Given the description of an element on the screen output the (x, y) to click on. 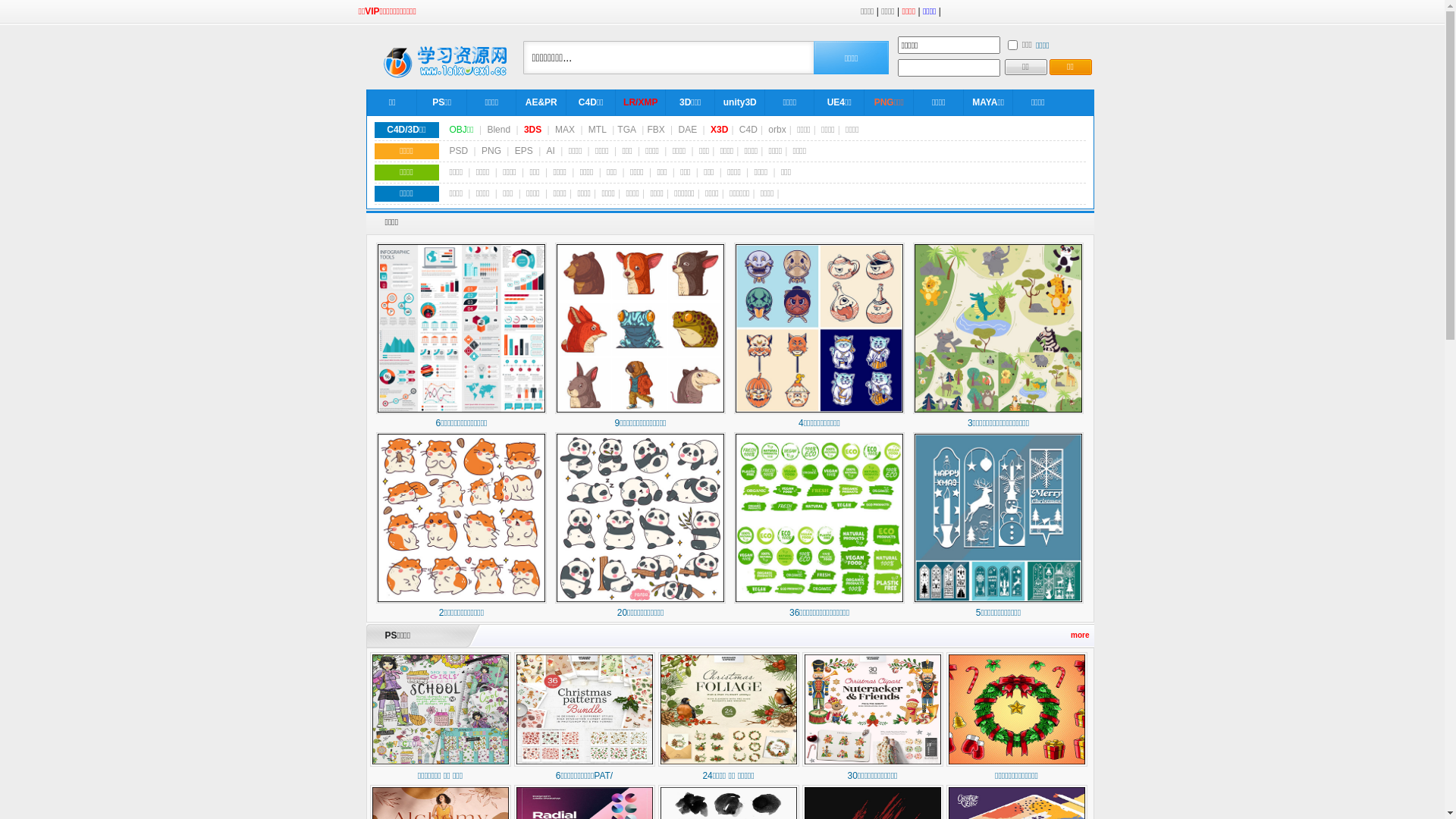
C4D Element type: text (748, 129)
AE&PR Element type: text (540, 102)
FBX Element type: text (655, 129)
orbx Element type: text (776, 129)
LR/XMP Element type: text (640, 102)
MTL Element type: text (597, 129)
PNG Element type: text (491, 150)
TGA Element type: text (626, 129)
PSD Element type: text (457, 150)
more Element type: text (1079, 634)
3DS Element type: text (532, 129)
MAX Element type: text (564, 129)
unity3D Element type: text (739, 102)
X3D Element type: text (719, 129)
AI Element type: text (550, 150)
Blend Element type: text (498, 129)
DAE Element type: text (687, 129)
EPS Element type: text (523, 150)
